Given the description of an element on the screen output the (x, y) to click on. 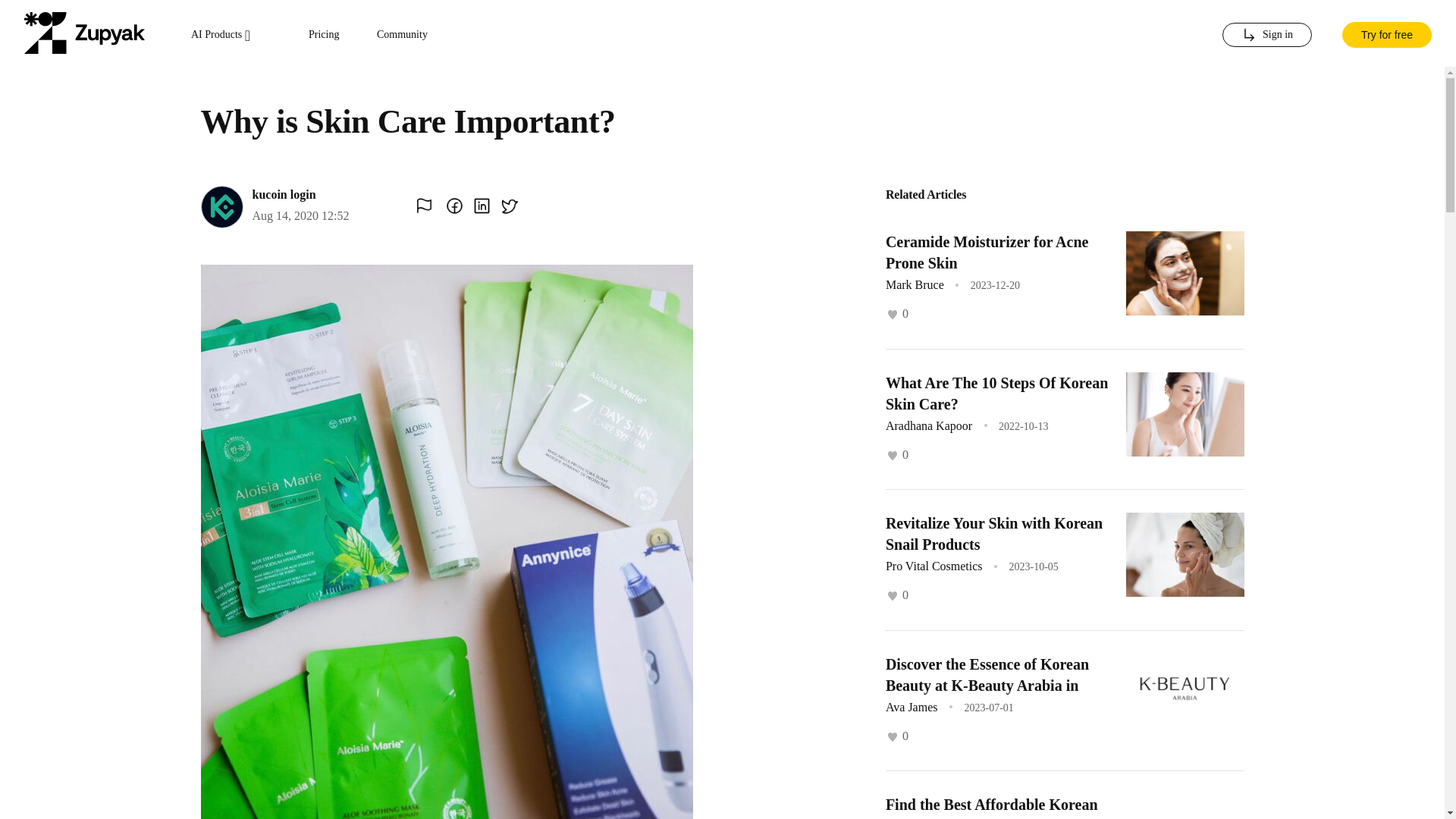
What Are The 10 Steps Of Korean Skin Care? (996, 393)
Ceramide Moisturizer for Acne Prone Skin (987, 252)
Ceramide Moisturizer for Acne Prone Skin (987, 252)
Pricing (323, 34)
Try for free (1386, 33)
What Are The 10 Steps Of Korean Skin Care? (996, 393)
Community (402, 34)
 Sign in (1267, 34)
Revitalize Your Skin with Korean Snail Products (993, 533)
